Given the description of an element on the screen output the (x, y) to click on. 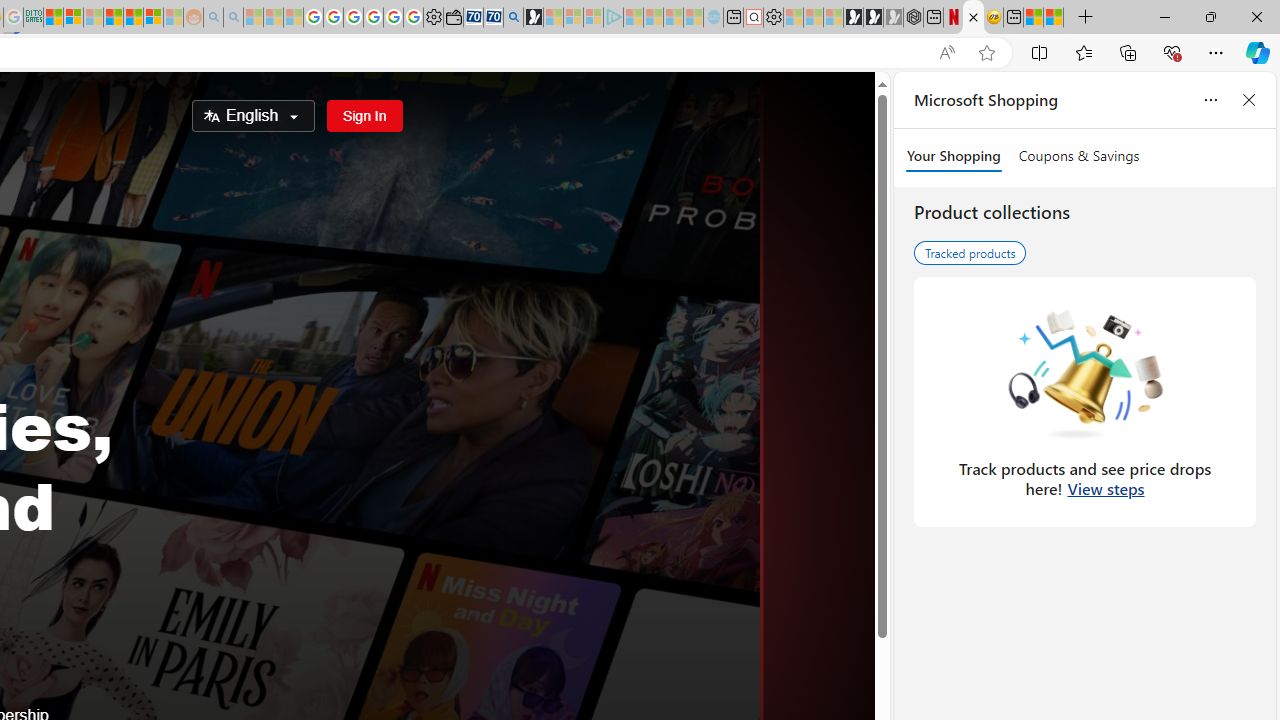
Select Language (252, 115)
